Given the description of an element on the screen output the (x, y) to click on. 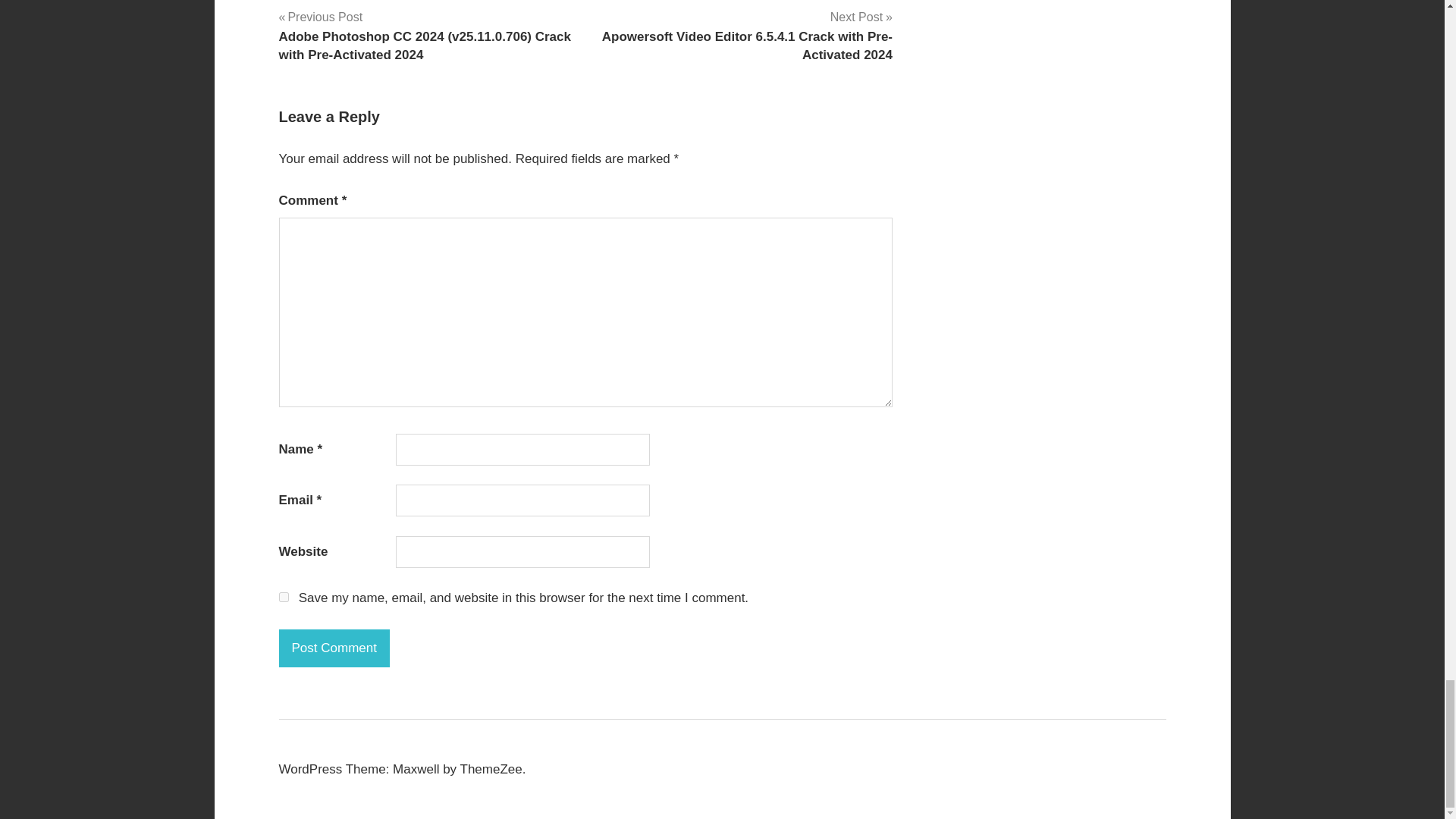
yes (283, 596)
Post Comment (334, 647)
Post Comment (334, 647)
